Given the description of an element on the screen output the (x, y) to click on. 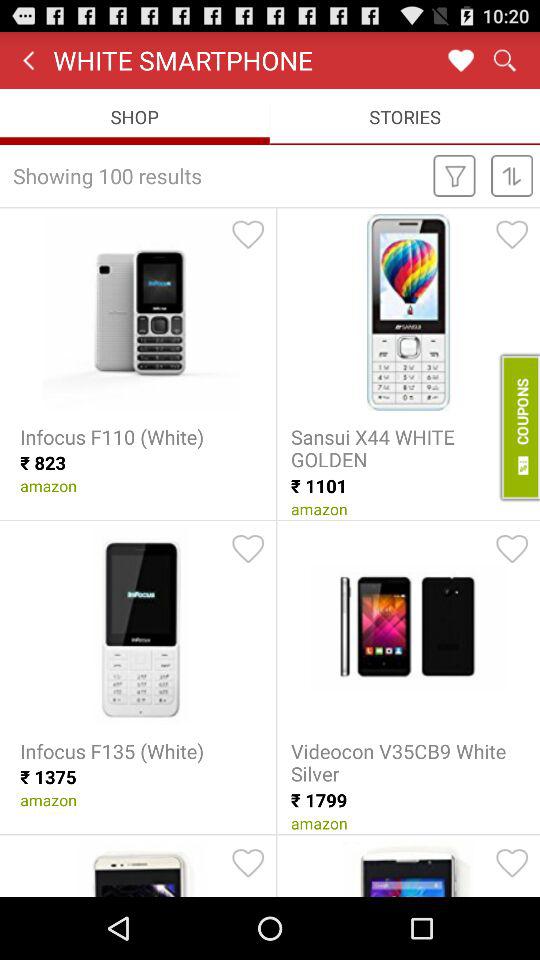
press here if you love the product (248, 863)
